Given the description of an element on the screen output the (x, y) to click on. 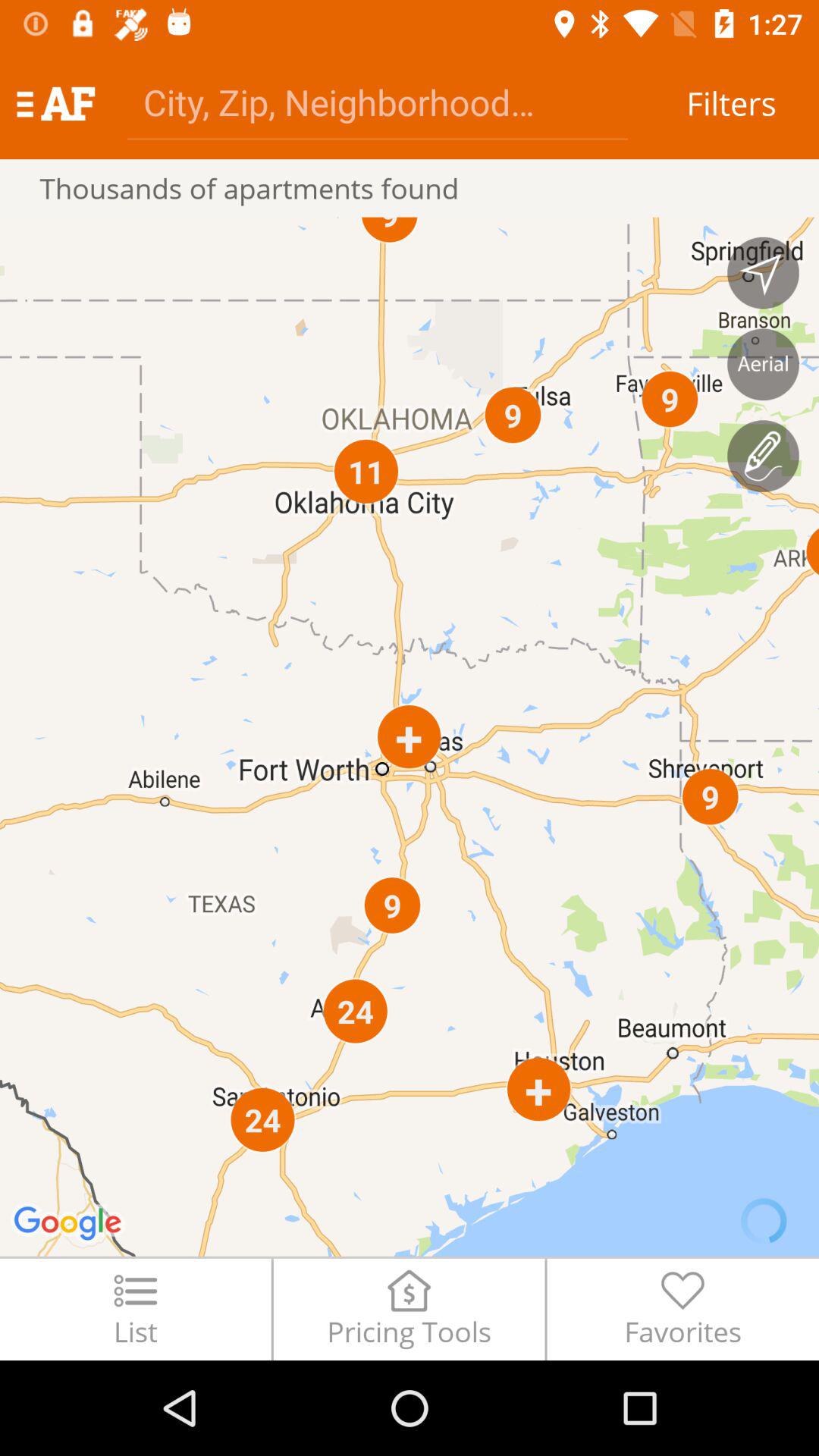
place (763, 364)
